Given the description of an element on the screen output the (x, y) to click on. 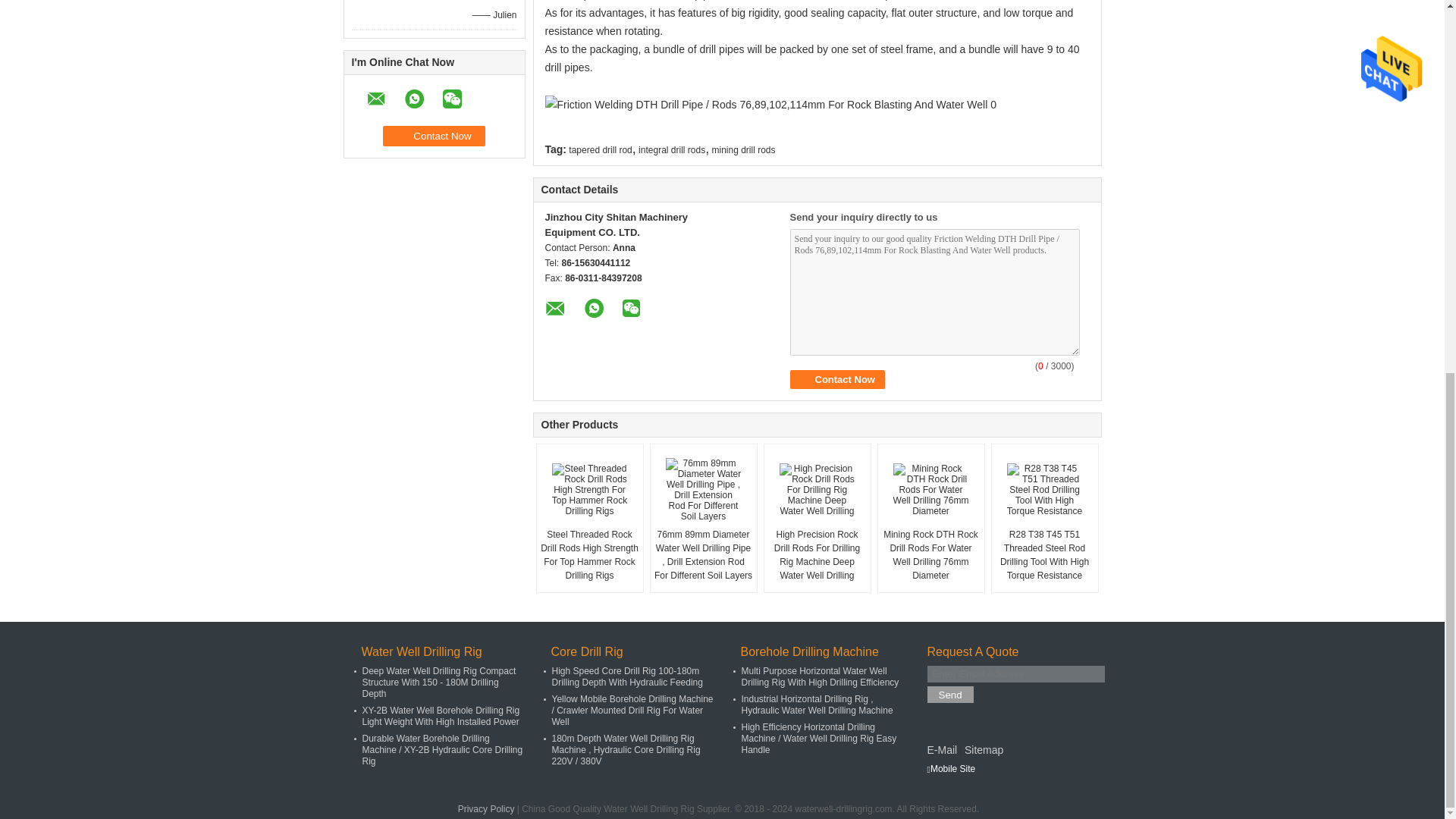
Contact Now (433, 136)
Contact Now (837, 379)
